Given the description of an element on the screen output the (x, y) to click on. 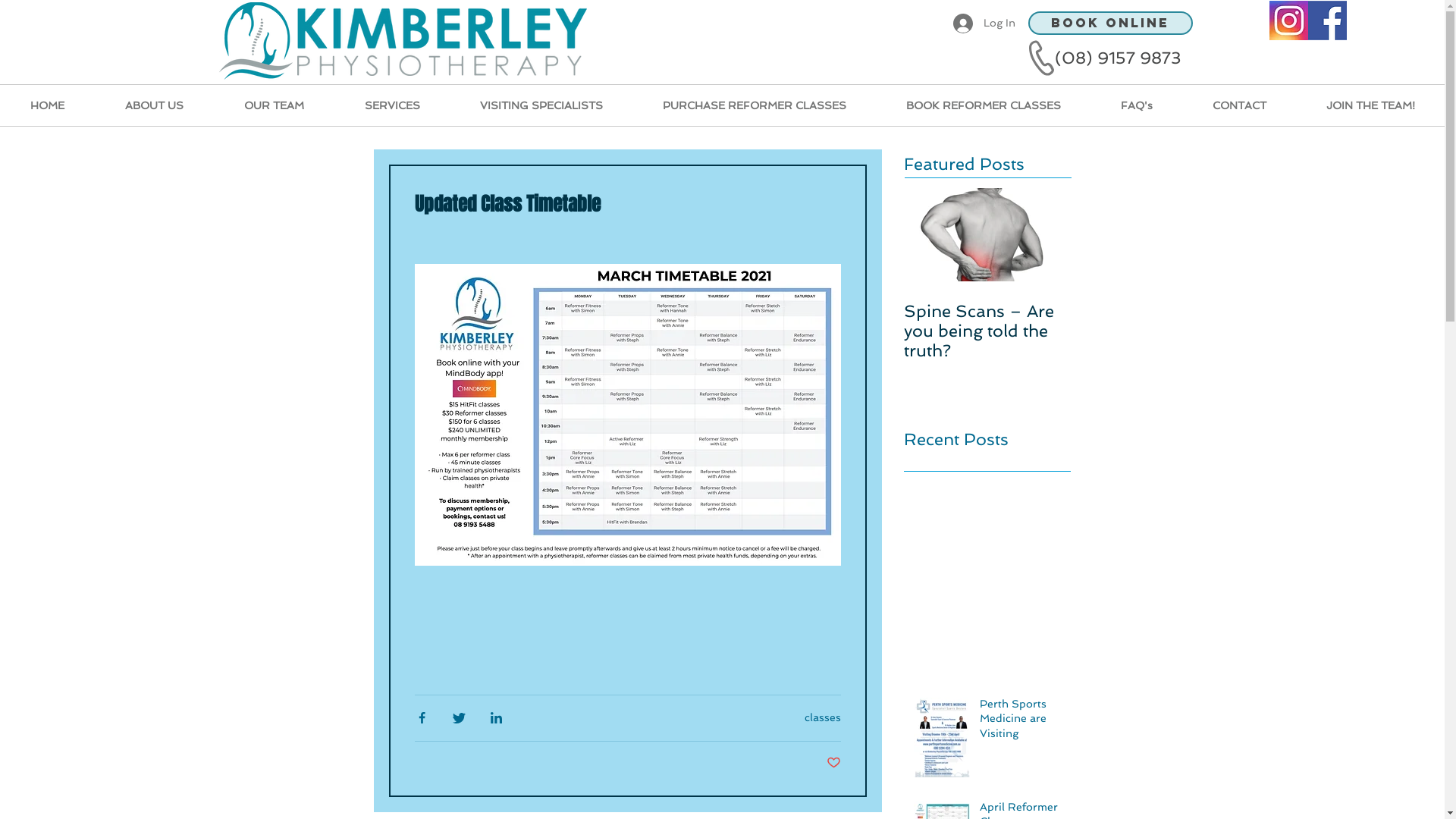
Log In Element type: text (983, 23)
FAQ's Element type: text (1136, 104)
ABOUT US Element type: text (153, 104)
Perth Sports Medicine are Visiting Element type: text (1020, 721)
OUR TEAM Element type: text (273, 104)
PURCHASE REFORMER CLASSES Element type: text (753, 104)
HOME Element type: text (47, 104)
classes Element type: text (821, 717)
BOOK ONLINE Element type: text (1110, 22)
SERVICES Element type: text (391, 104)
Post not marked as liked Element type: text (833, 763)
VISITING SPECIALISTS Element type: text (540, 104)
CONTACT Element type: text (1238, 104)
JOIN THE TEAM! Element type: text (1369, 104)
BOOK REFORMER CLASSES Element type: text (982, 104)
